Given the description of an element on the screen output the (x, y) to click on. 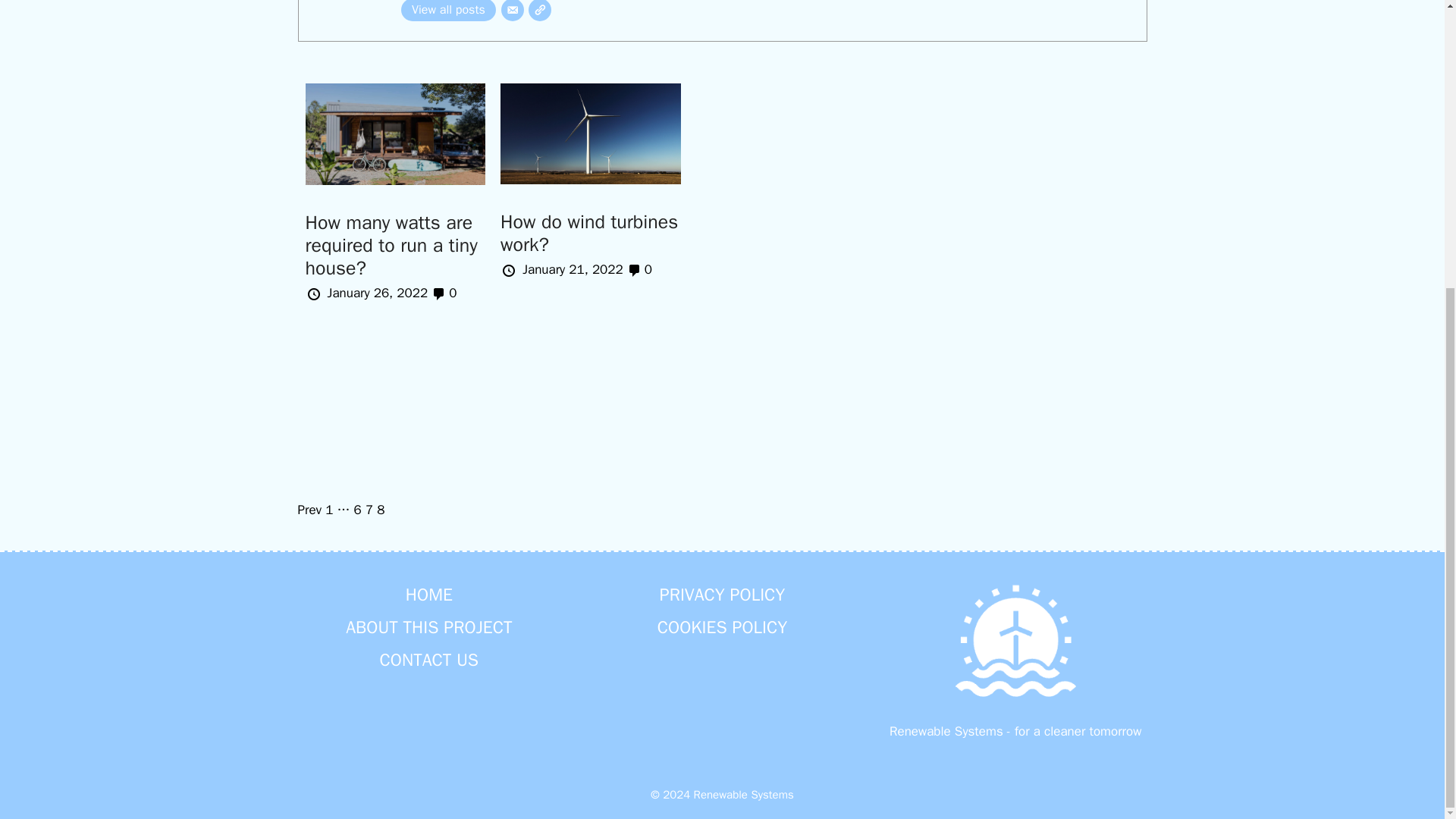
HOME (429, 594)
ABOUT THIS PROJECT (429, 627)
How many watts are required to run a tiny house? (390, 245)
Prev (309, 509)
View all posts (448, 10)
0 (443, 293)
0 (639, 270)
PRIVACY POLICY (721, 594)
Comment counts (443, 293)
How do wind turbines work? (589, 232)
